Given the description of an element on the screen output the (x, y) to click on. 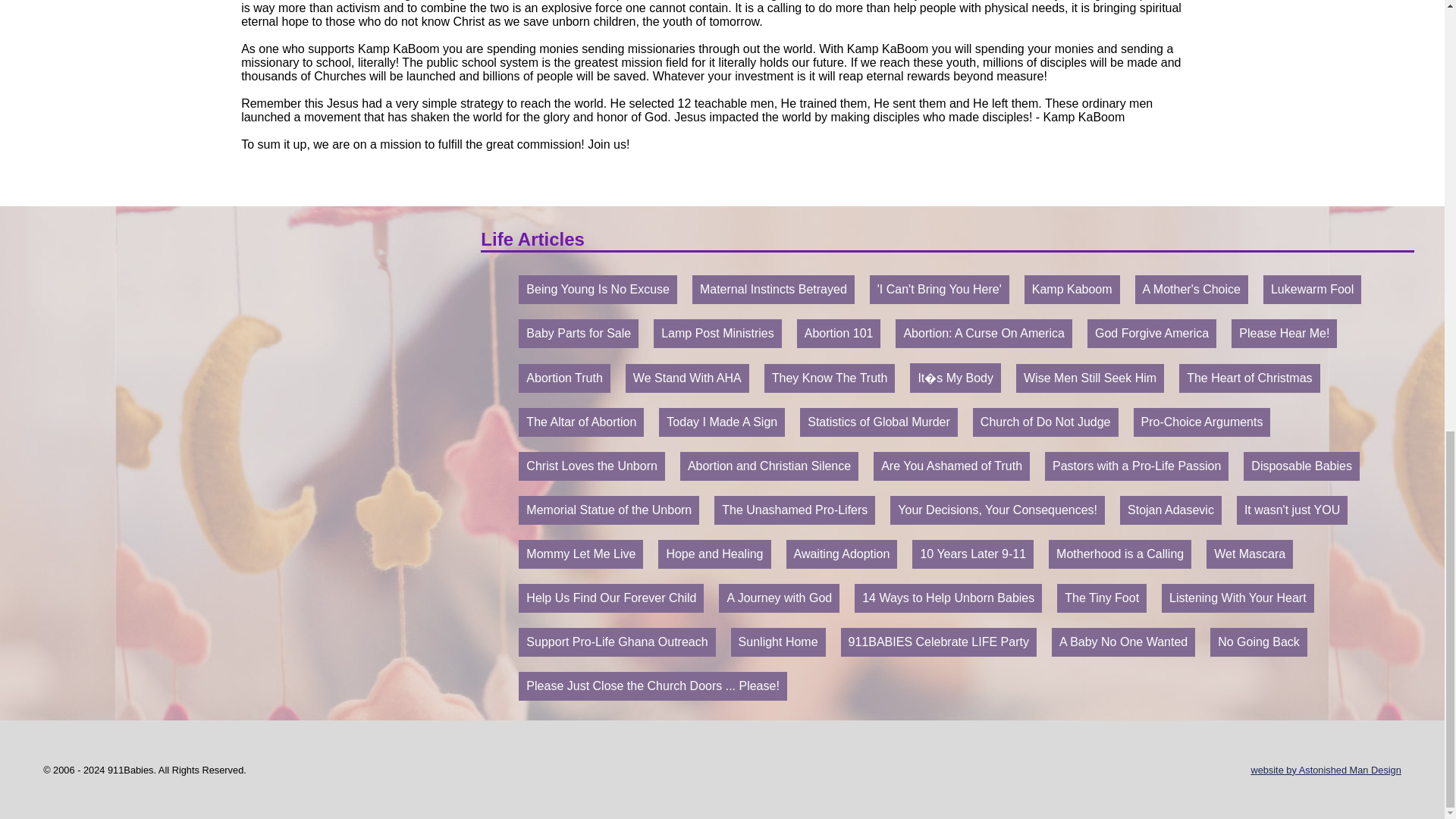
Wise Men Still Seek Him (1089, 378)
Please Hear Me! (1283, 333)
A Mother's Choice (1191, 289)
Maternal Instincts Betrayed (773, 289)
Pro-Choice Arguments (1200, 421)
Kamp Kaboom (1072, 289)
Abortion 101 (838, 333)
Lukewarm Fool (1312, 289)
Baby Parts for Sale (578, 333)
Christ Loves the Unborn (591, 466)
